Given the description of an element on the screen output the (x, y) to click on. 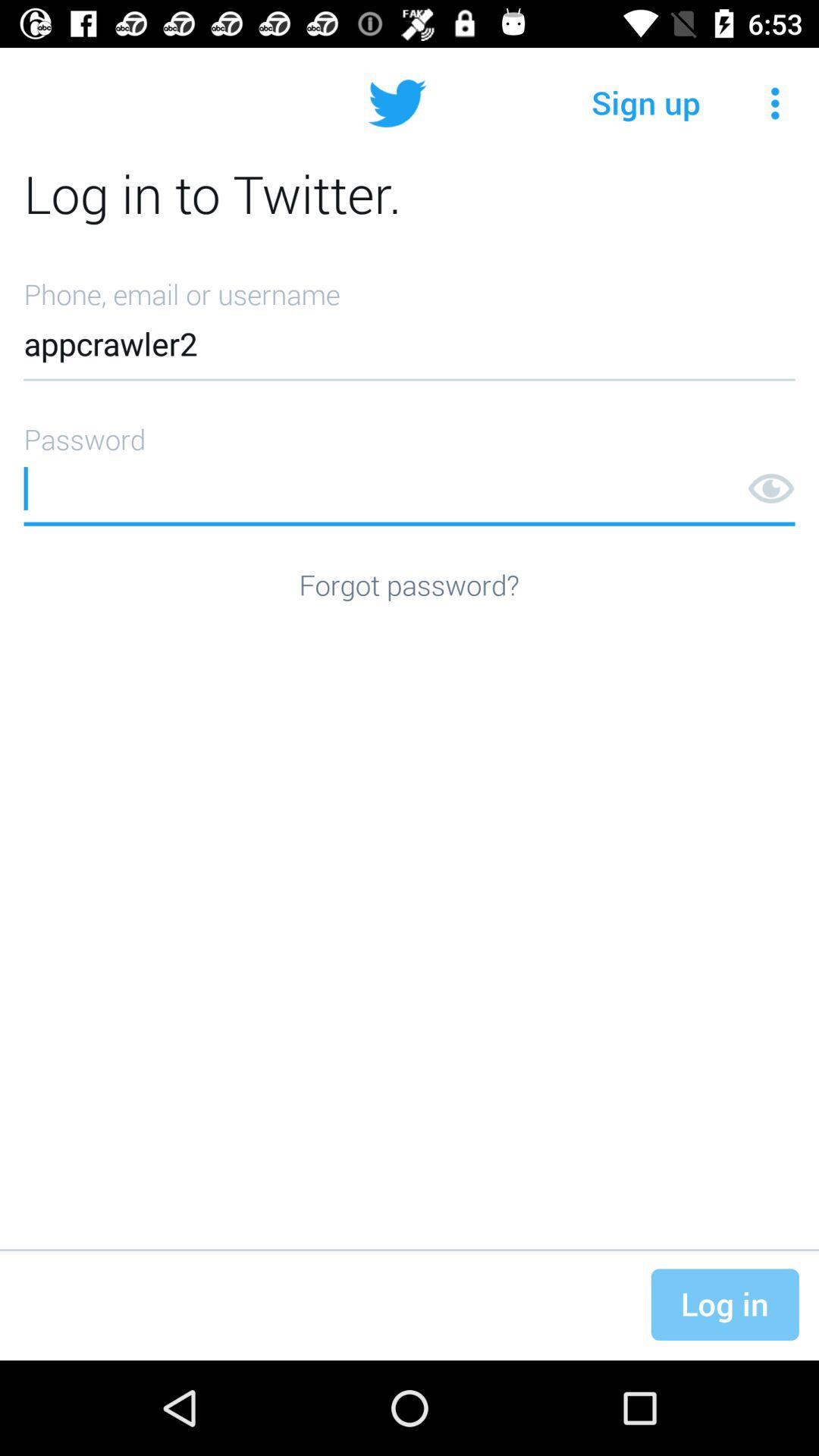
turn off the item to the right of sign up icon (775, 103)
